Given the description of an element on the screen output the (x, y) to click on. 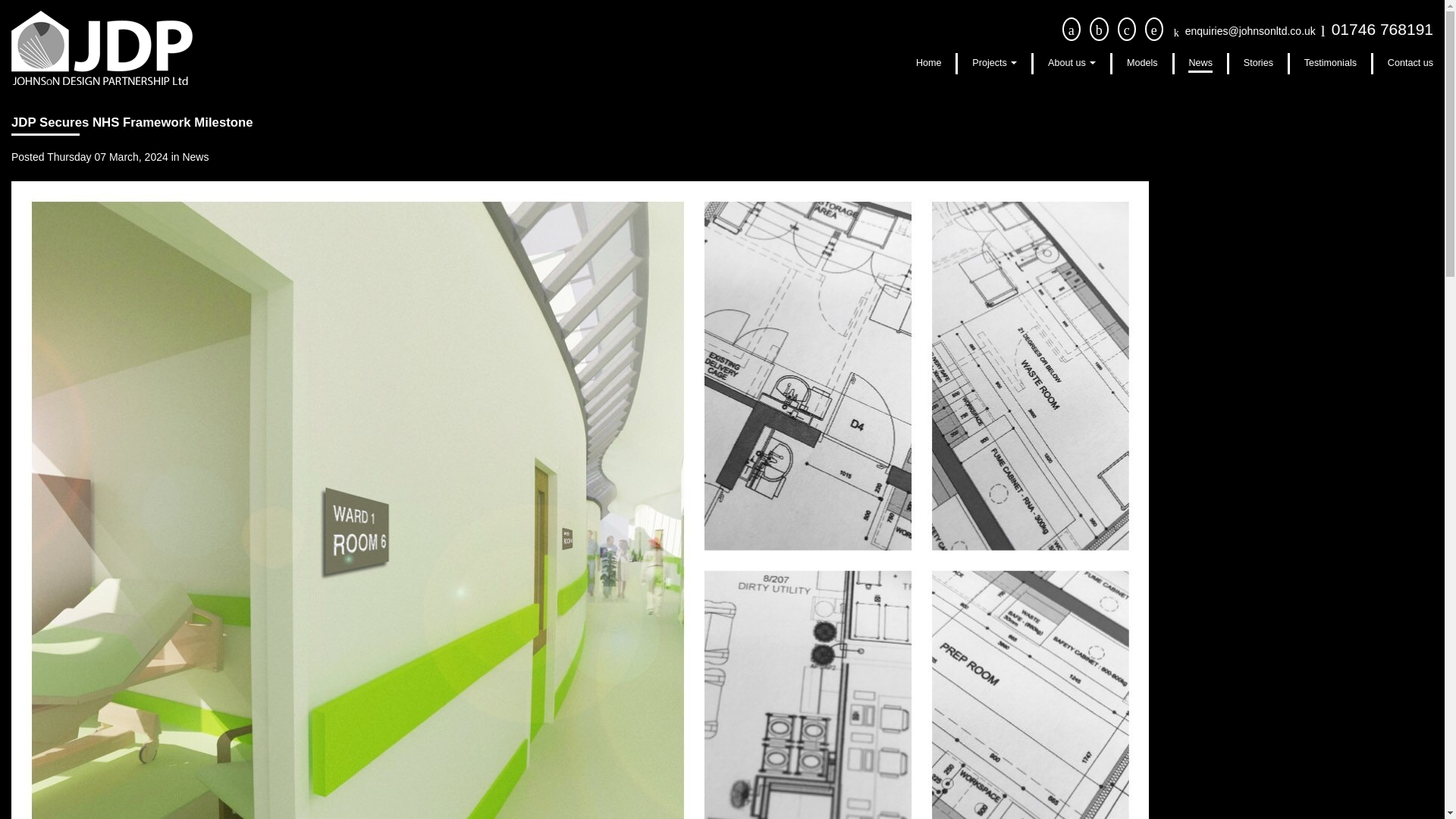
Home (928, 63)
Stories (1257, 63)
01746 768191 (1382, 28)
News (1200, 63)
Contact us (1409, 63)
News (195, 156)
About us (1072, 63)
Projects (994, 63)
Email (1250, 30)
Home (928, 63)
Models (1141, 63)
Projects (994, 63)
About us (1072, 63)
Johnson Design Partnership (101, 47)
Testimonials (1330, 63)
